Given the description of an element on the screen output the (x, y) to click on. 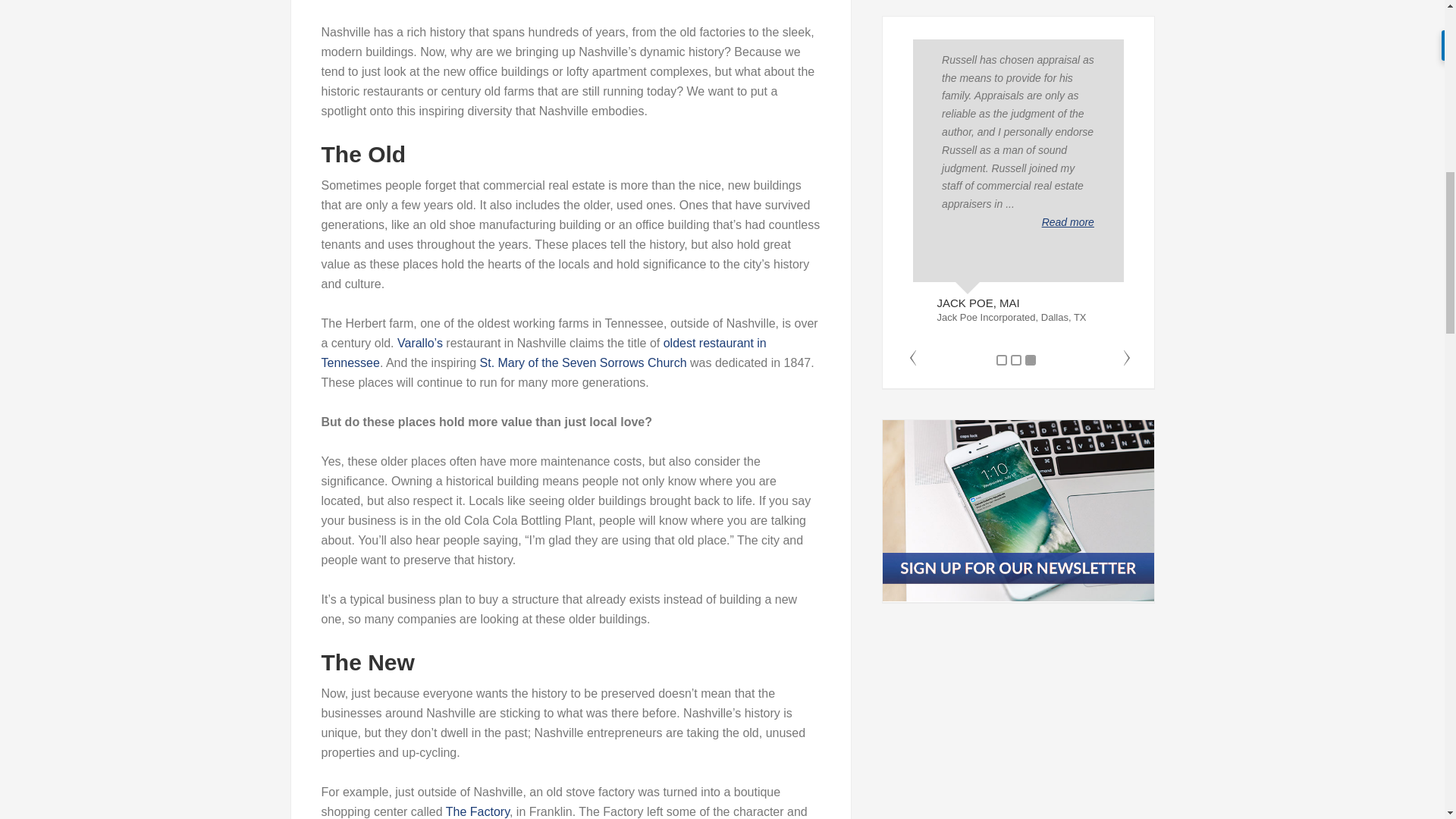
St. Mary of the Seven Sorrows Church (583, 362)
The Factory (477, 811)
oldest restaurant in Tennessee (544, 352)
Read more (1068, 222)
